Given the description of an element on the screen output the (x, y) to click on. 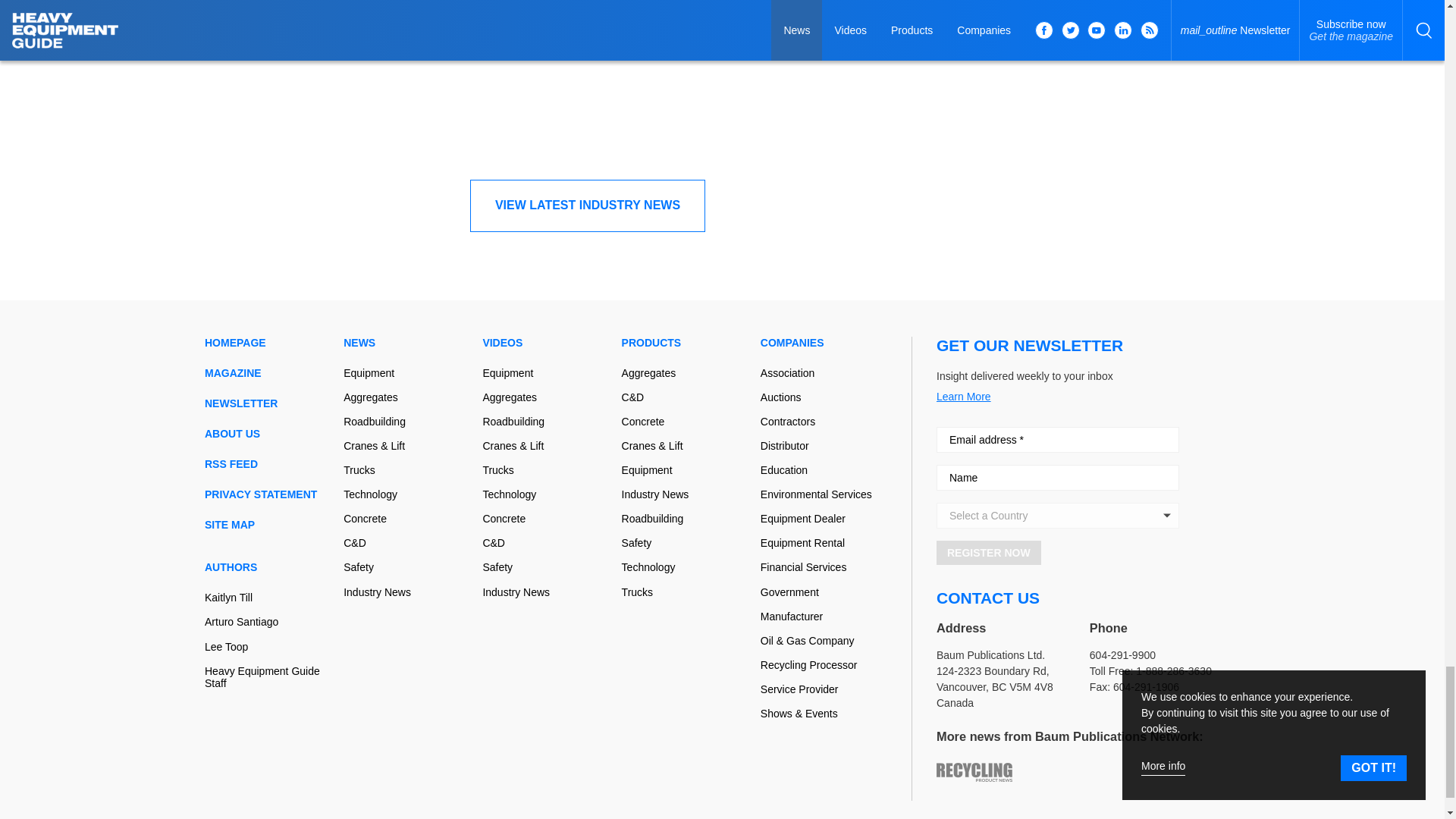
HOMEPAGE (268, 342)
NEWSLETTER (268, 403)
ABOUT US (268, 433)
MAGAZINE (268, 372)
VIEW LATEST INDUSTRY NEWS (587, 204)
